Given the description of an element on the screen output the (x, y) to click on. 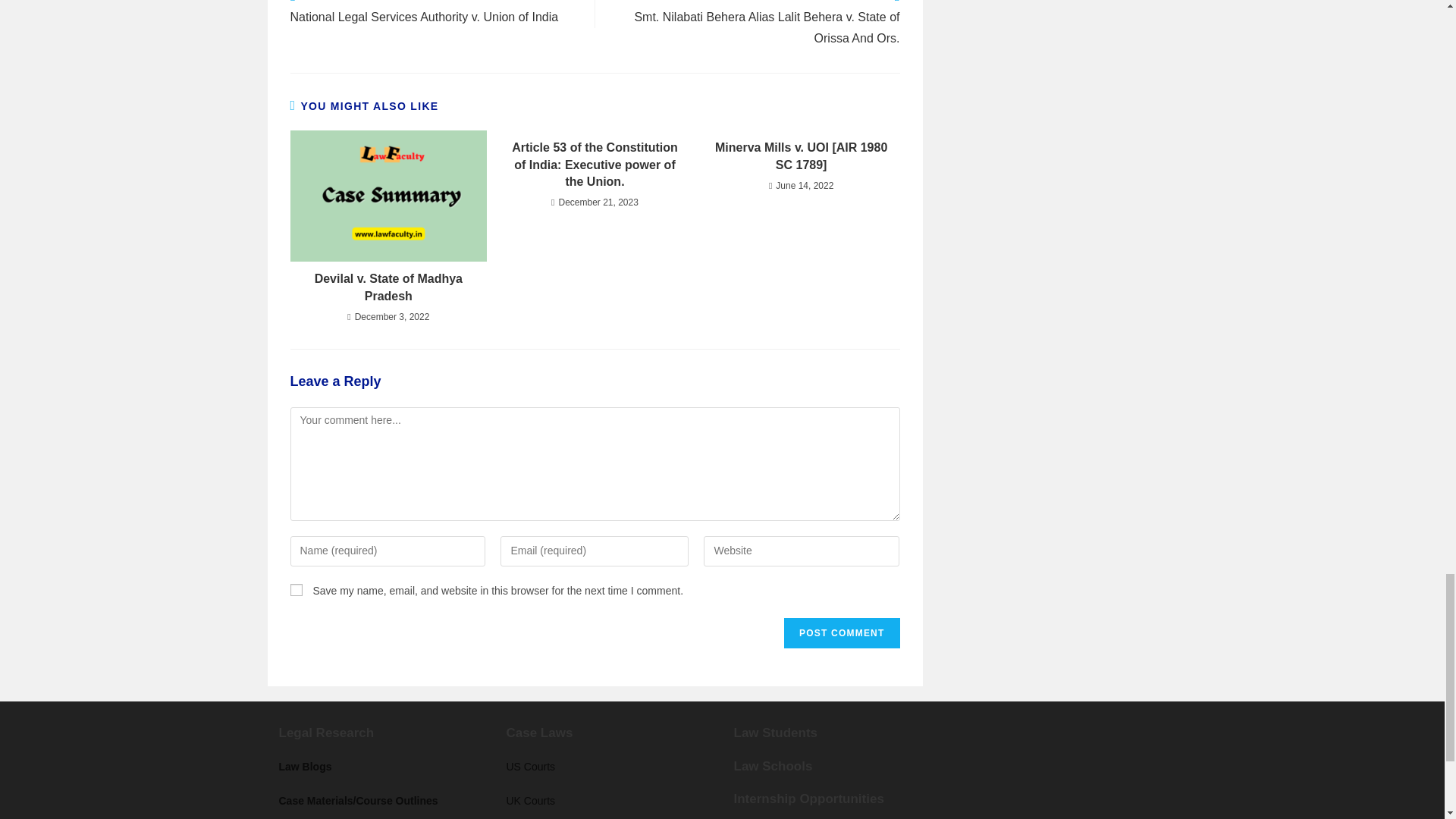
Post Comment (841, 633)
Post Comment (841, 633)
Devilal v. State of Madhya Pradesh (387, 287)
yes (295, 589)
